Given the description of an element on the screen output the (x, y) to click on. 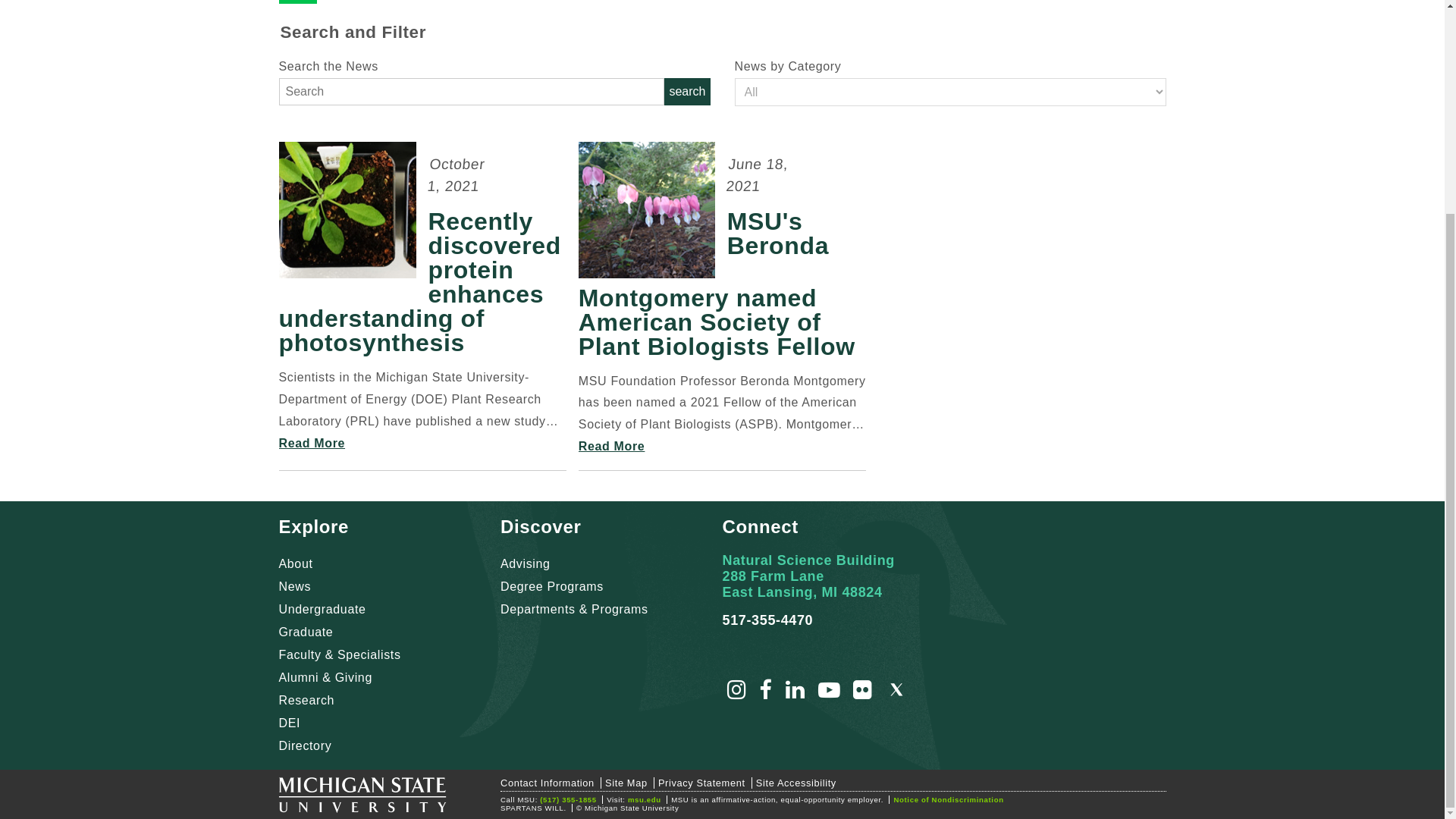
Michigan State University (362, 798)
NatSci YouTube (829, 692)
Instagram (736, 692)
X (896, 692)
NatSci Flickr (862, 692)
Call MSU (568, 799)
NatSci LinkedIn (794, 692)
